Given the description of an element on the screen output the (x, y) to click on. 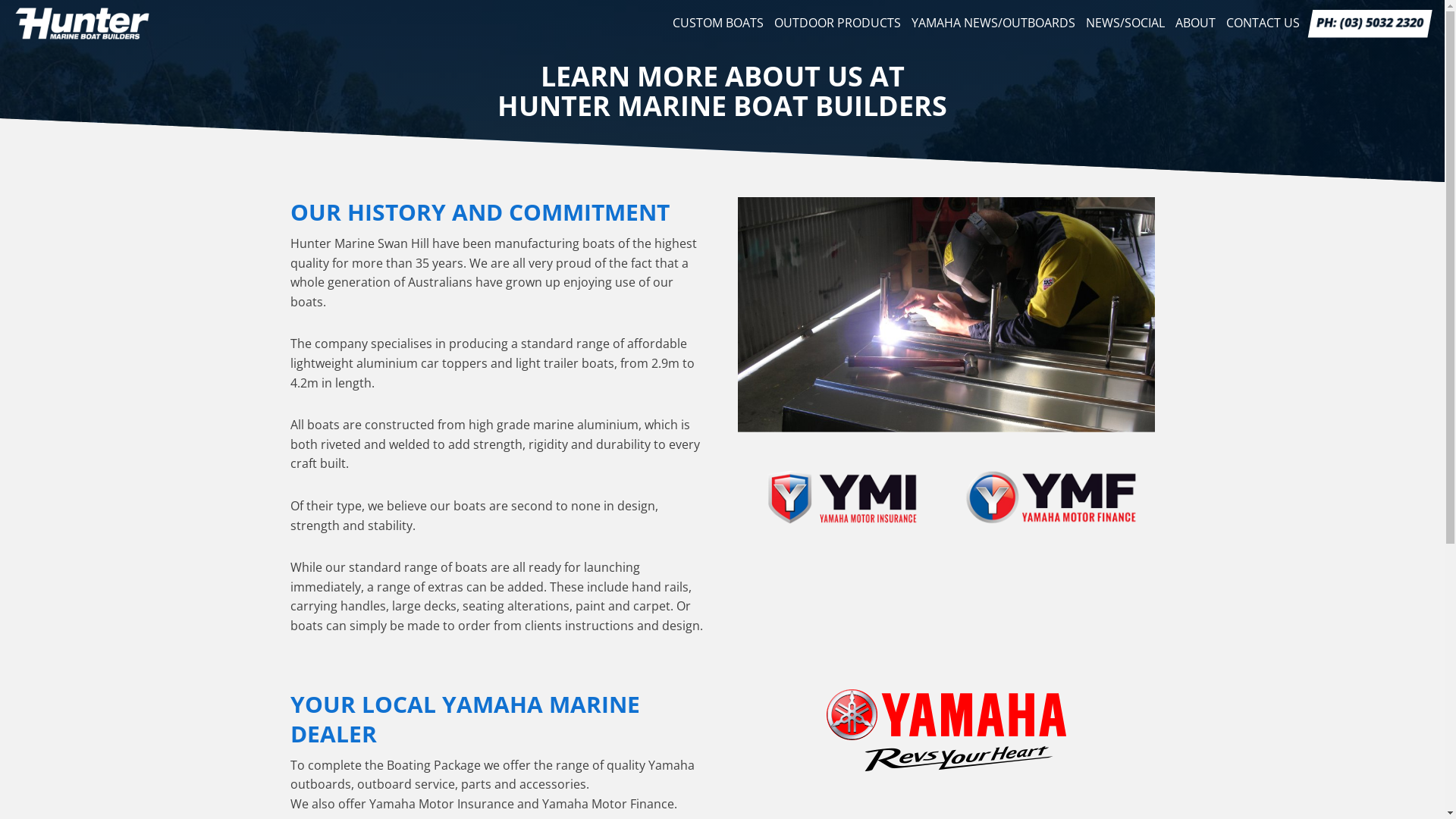
ABOUT Element type: text (1195, 23)
PH: (03) 5032 2320 Element type: text (1367, 23)
NEWS/SOCIAL Element type: text (1124, 23)
YAMAHA NEWS/OUTBOARDS Element type: text (993, 23)
CONTACT US Element type: text (1262, 23)
CUSTOM BOATS Element type: text (717, 23)
OUTDOOR PRODUCTS Element type: text (837, 23)
